Given the description of an element on the screen output the (x, y) to click on. 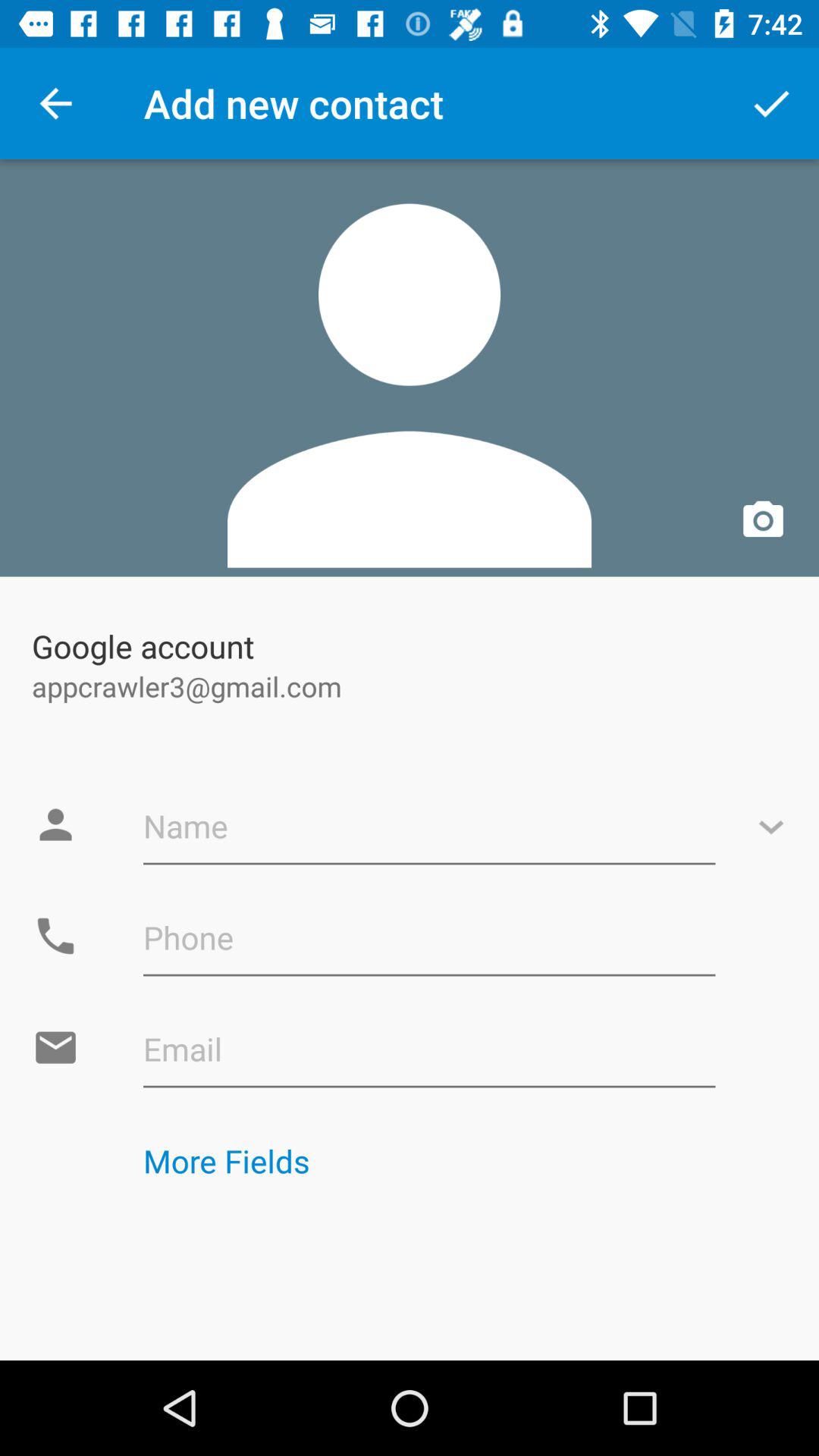
choose the item to the right of the add new contact (771, 103)
